Given the description of an element on the screen output the (x, y) to click on. 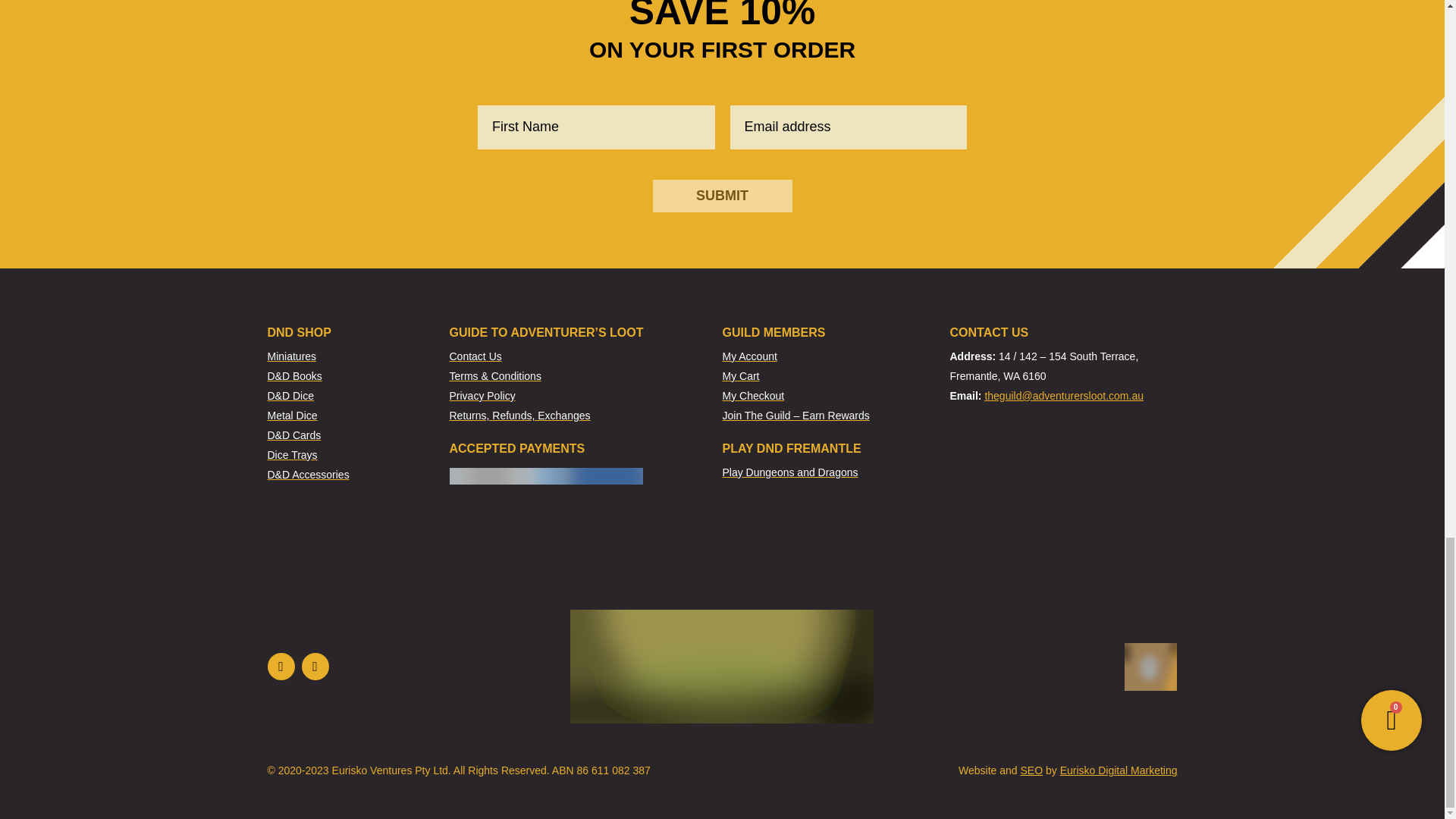
Metal Dice (357, 415)
Miniatures (357, 356)
SUBMIT (722, 195)
